Given the description of an element on the screen output the (x, y) to click on. 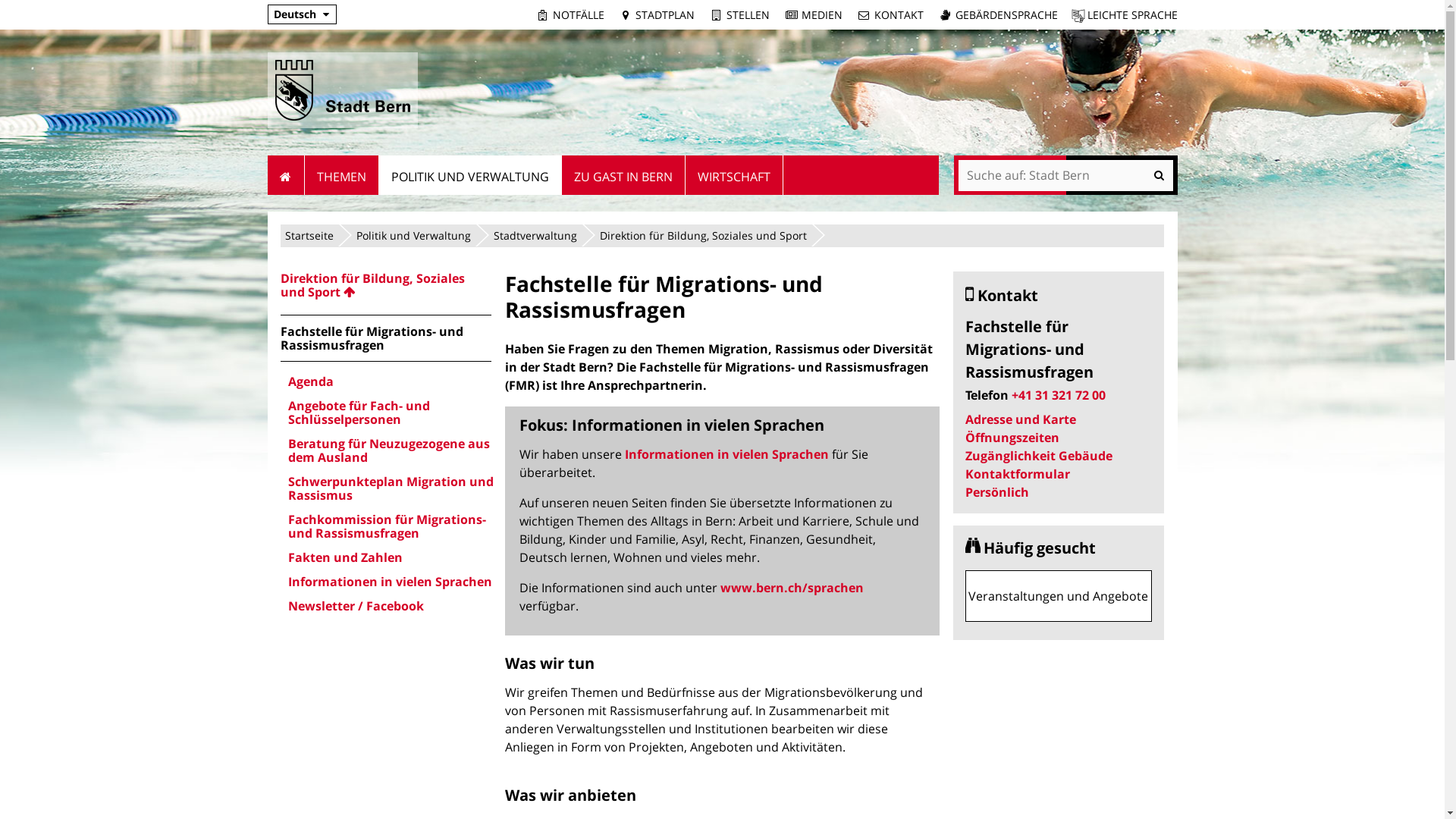
Stadtverwaltung Element type: text (535, 235)
Newsletter / Facebook Element type: text (389, 605)
MEDIEN Element type: text (812, 14)
Fakten und Zahlen Element type: text (389, 557)
STELLEN Element type: text (738, 14)
Stadt Bern Element type: hover (341, 90)
POLITIK UND VERWALTUNG Element type: text (470, 174)
www.bern.ch/sprachen Element type: text (791, 587)
Startseite Element type: text (309, 235)
Informationen in vielen Sprachen Element type: text (726, 453)
+41 31 321 72 00 Element type: text (1058, 394)
Deutsch Element type: text (294, 13)
STARTSEITE Element type: text (285, 174)
Schwerpunkteplan Migration und Rassismus Element type: text (389, 488)
STADTPLAN Element type: text (656, 14)
Politik und Verwaltung Element type: text (413, 235)
Informationen in vielen Sprachen Element type: text (389, 581)
Kontaktformular Element type: text (1017, 473)
LEICHTE SPRACHE Element type: text (1123, 14)
ZU GAST IN BERN Element type: text (622, 174)
Agenda Element type: text (389, 381)
WIRTSCHAFT Element type: text (734, 174)
Veranstaltungen und Angebote Element type: text (1058, 595)
Adresse und Karte Element type: text (1020, 419)
KONTAKT Element type: text (889, 14)
THEMEN Element type: text (341, 174)
Suchen Element type: hover (1065, 175)
